Given the description of an element on the screen output the (x, y) to click on. 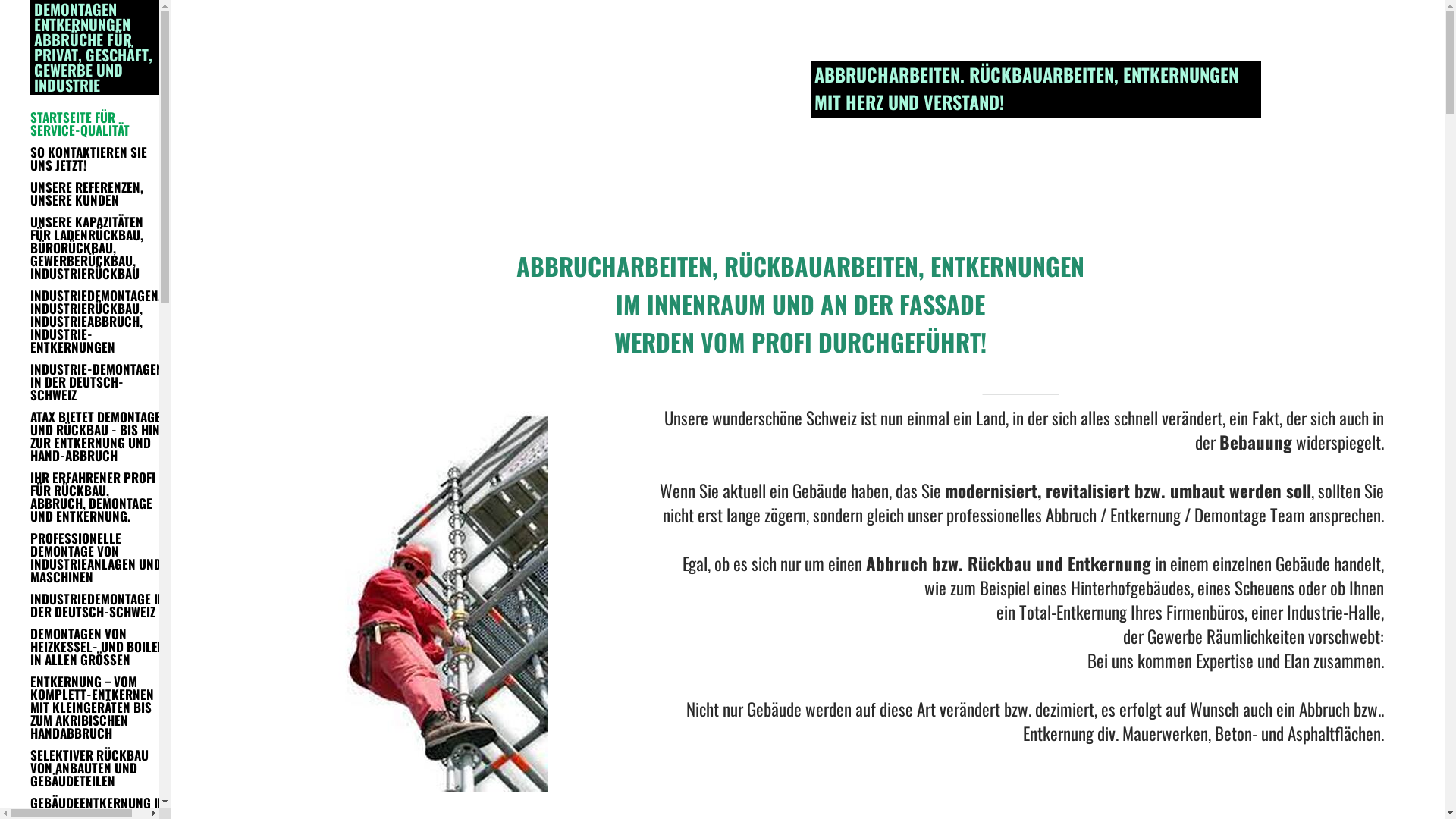
INDUSTRIE-DEMONTAGEN IN DER DEUTSCH-SCHWEIZ Element type: text (97, 381)
PROFESSIONELLE DEMONTAGE VON INDUSTRIEANLAGEN UND MASCHINEN Element type: text (97, 557)
UNSERE REFERENZEN, UNSERE KUNDEN Element type: text (97, 192)
SO KONTAKTIEREN SIE UNS JETZT! Element type: text (97, 158)
INDUSTRIEDEMONTAGE IN DER DEUTSCH-SCHWEIZ Element type: text (97, 604)
